Given the description of an element on the screen output the (x, y) to click on. 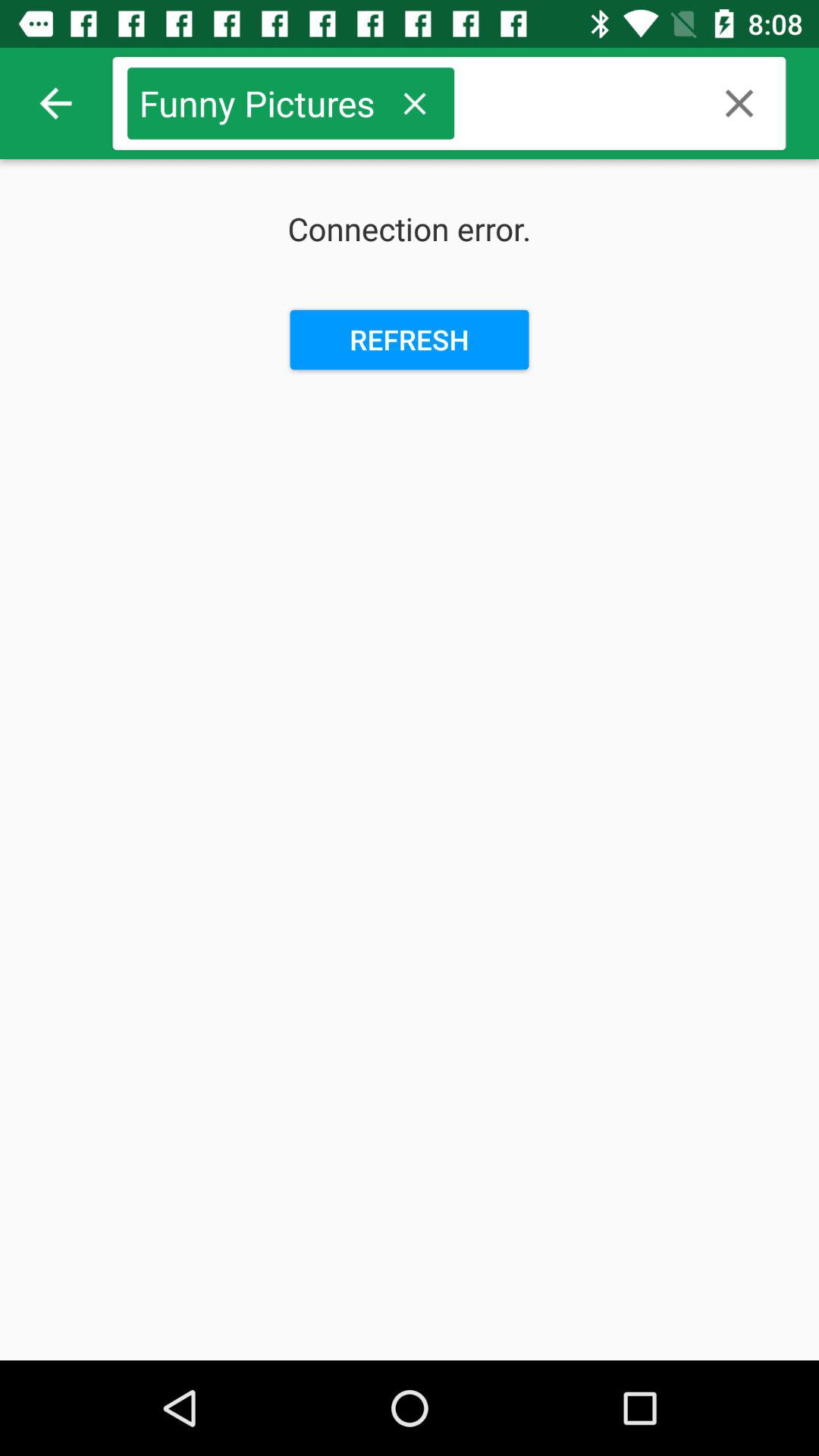
delete search phrase (414, 103)
